Given the description of an element on the screen output the (x, y) to click on. 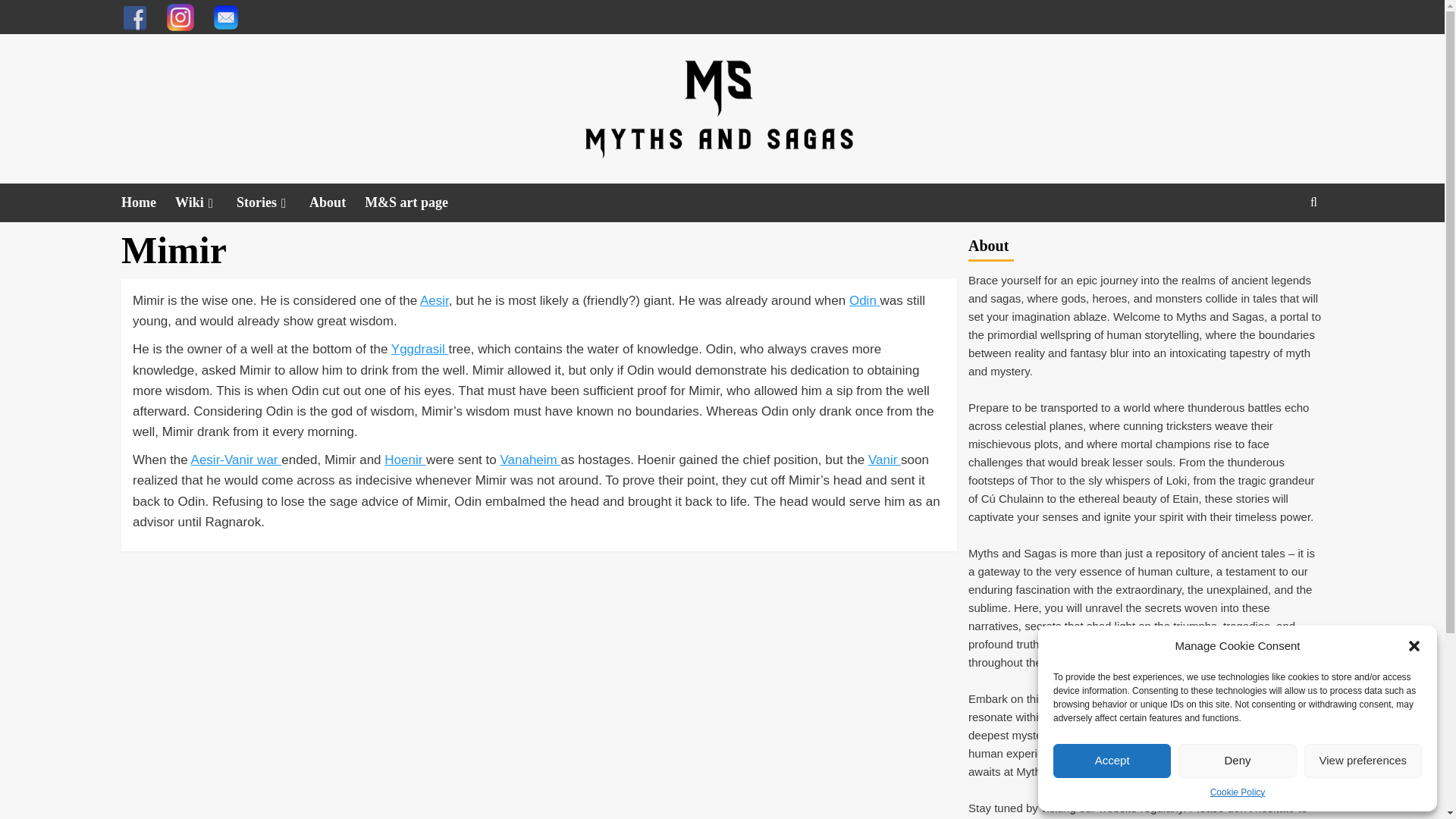
Accept (1111, 760)
About (336, 202)
Home (147, 202)
Wiki (204, 202)
Search (1313, 202)
View preferences (1363, 760)
Deny (1236, 760)
Cookie Policy (1237, 792)
Stories (271, 202)
